Given the description of an element on the screen output the (x, y) to click on. 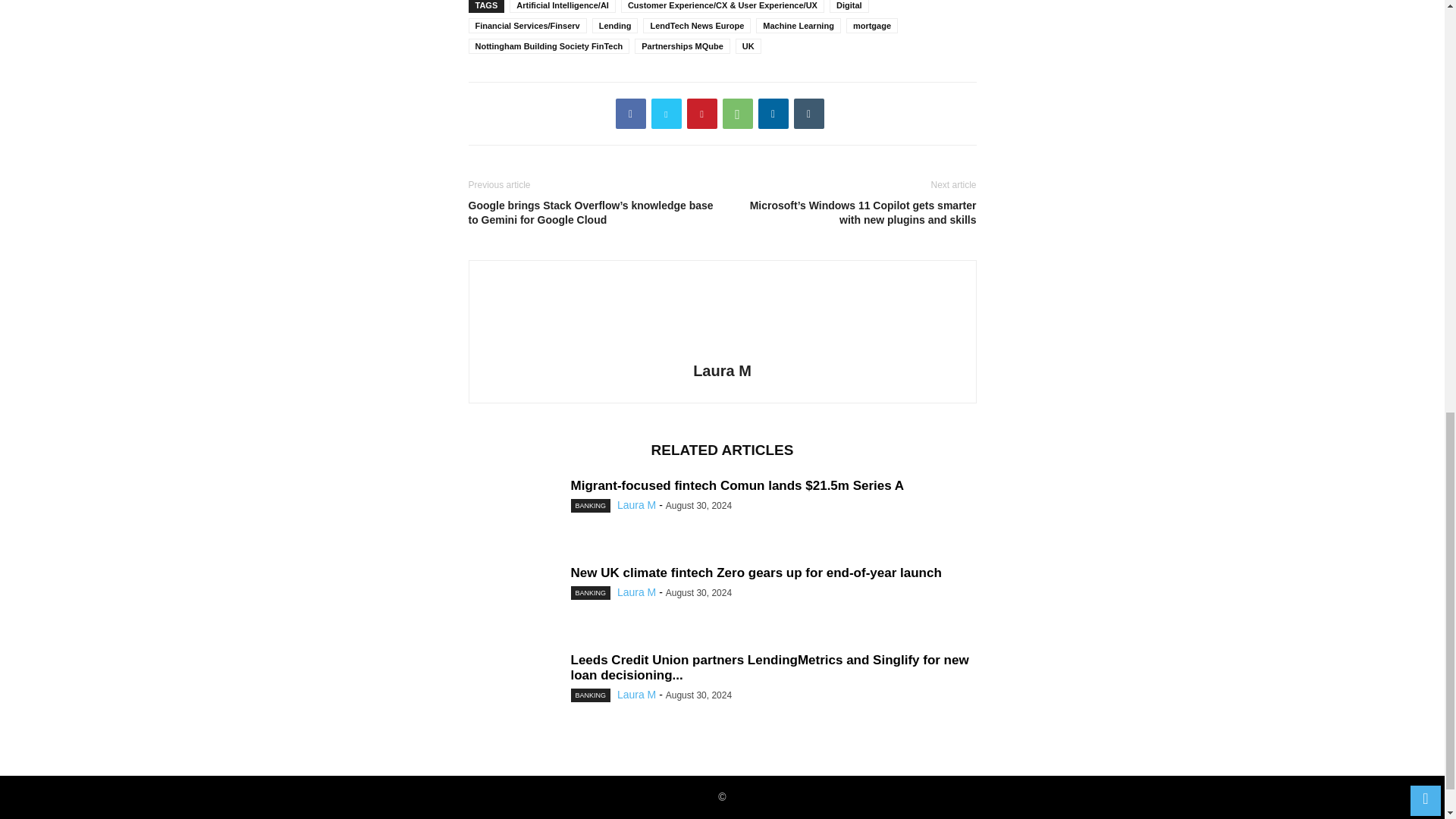
Linkedin (773, 113)
Twitter (665, 113)
mortgage (871, 25)
Pinterest (702, 113)
LendTech News Europe (697, 25)
Facebook (630, 113)
Lending (615, 25)
Partnerships MQube (682, 46)
WhatsApp (737, 113)
Digital (849, 6)
